Given the description of an element on the screen output the (x, y) to click on. 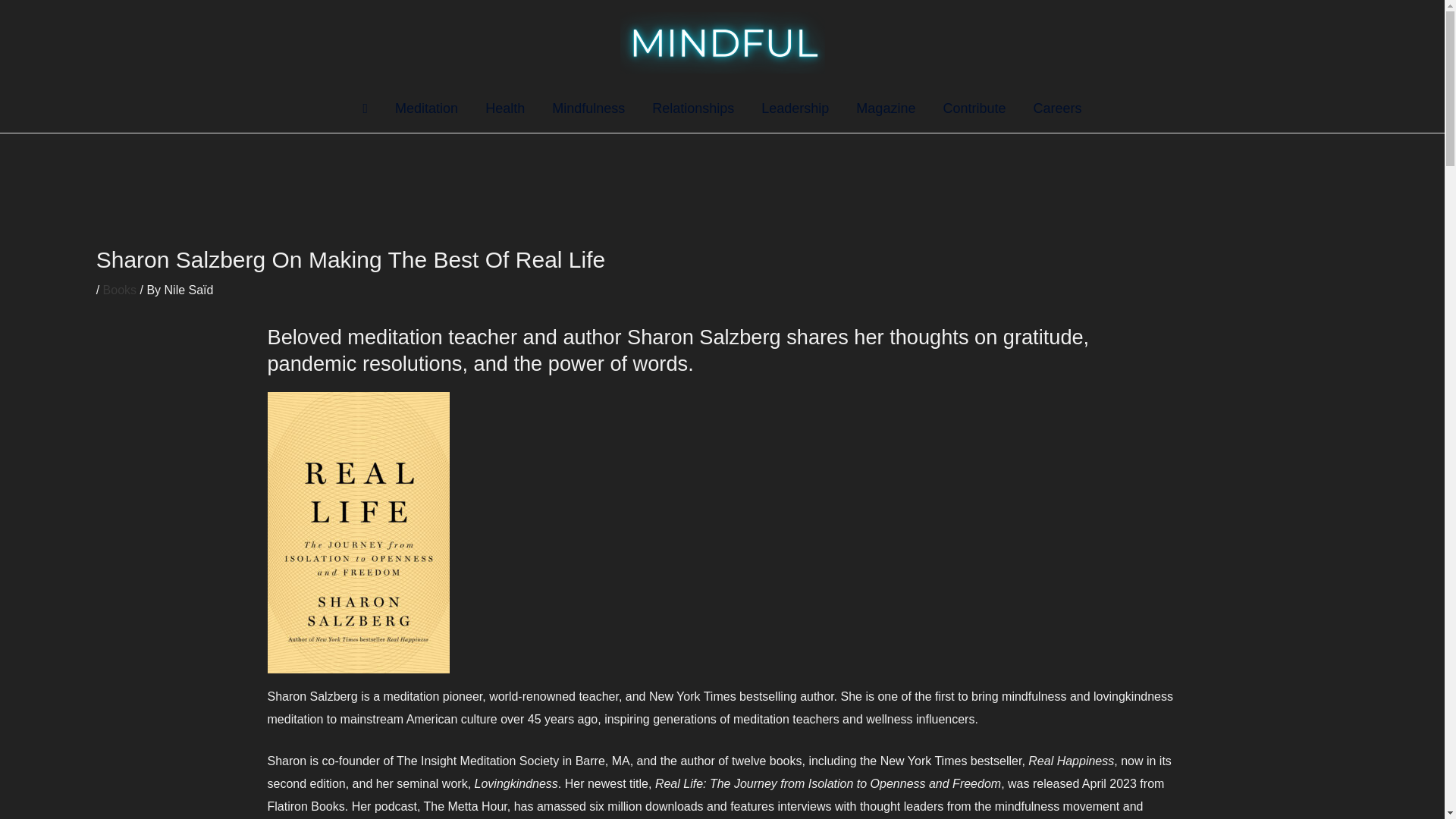
Books (119, 289)
